Given the description of an element on the screen output the (x, y) to click on. 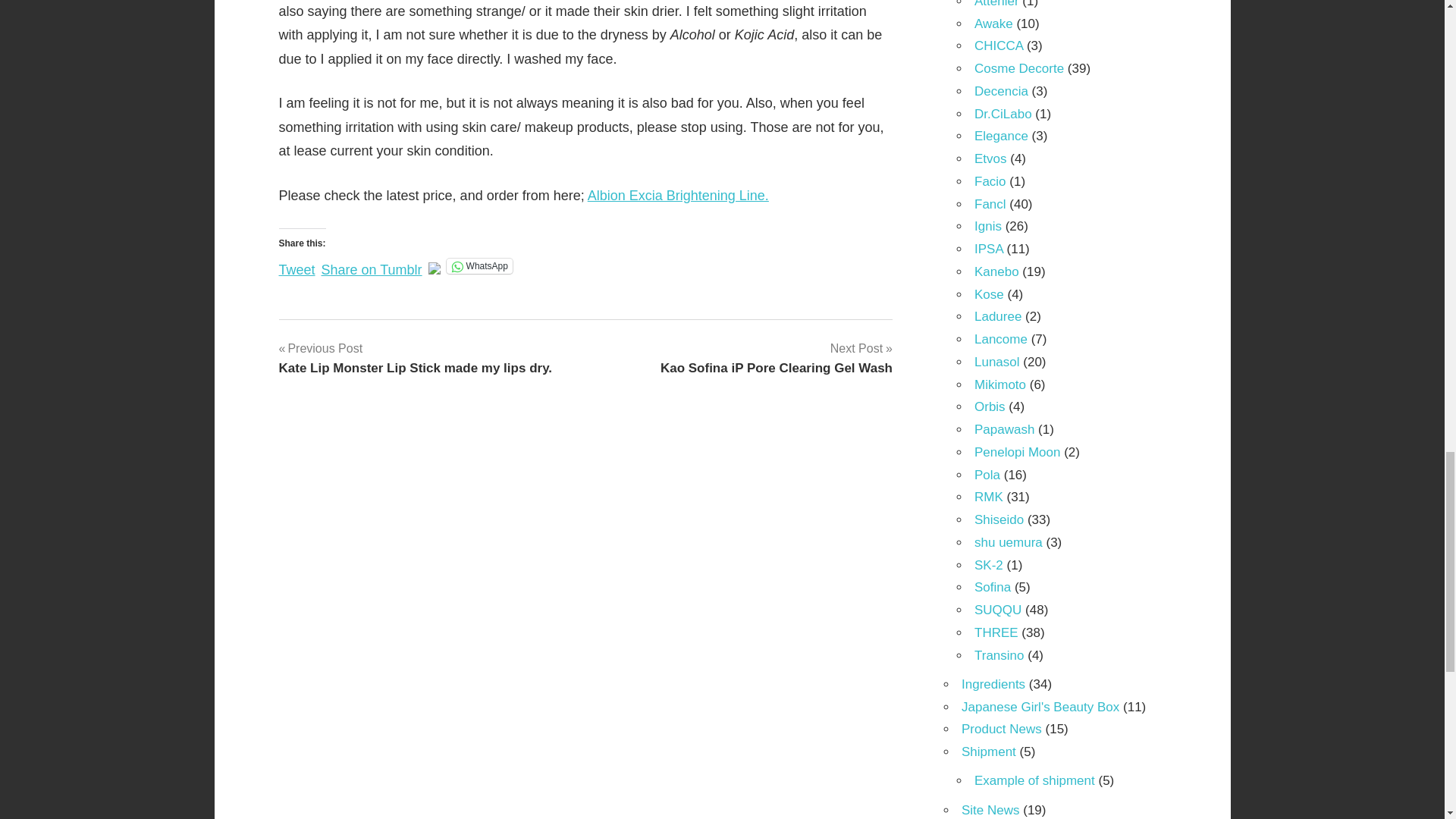
Awake (776, 357)
Share on Tumblr (993, 23)
Albion Excia Brightening Line. (371, 264)
CHICCA (678, 195)
WhatsApp (998, 45)
Decencia (479, 264)
Click to share on WhatsApp (1000, 91)
Tweet (479, 264)
Share on Tumblr (297, 264)
